Given the description of an element on the screen output the (x, y) to click on. 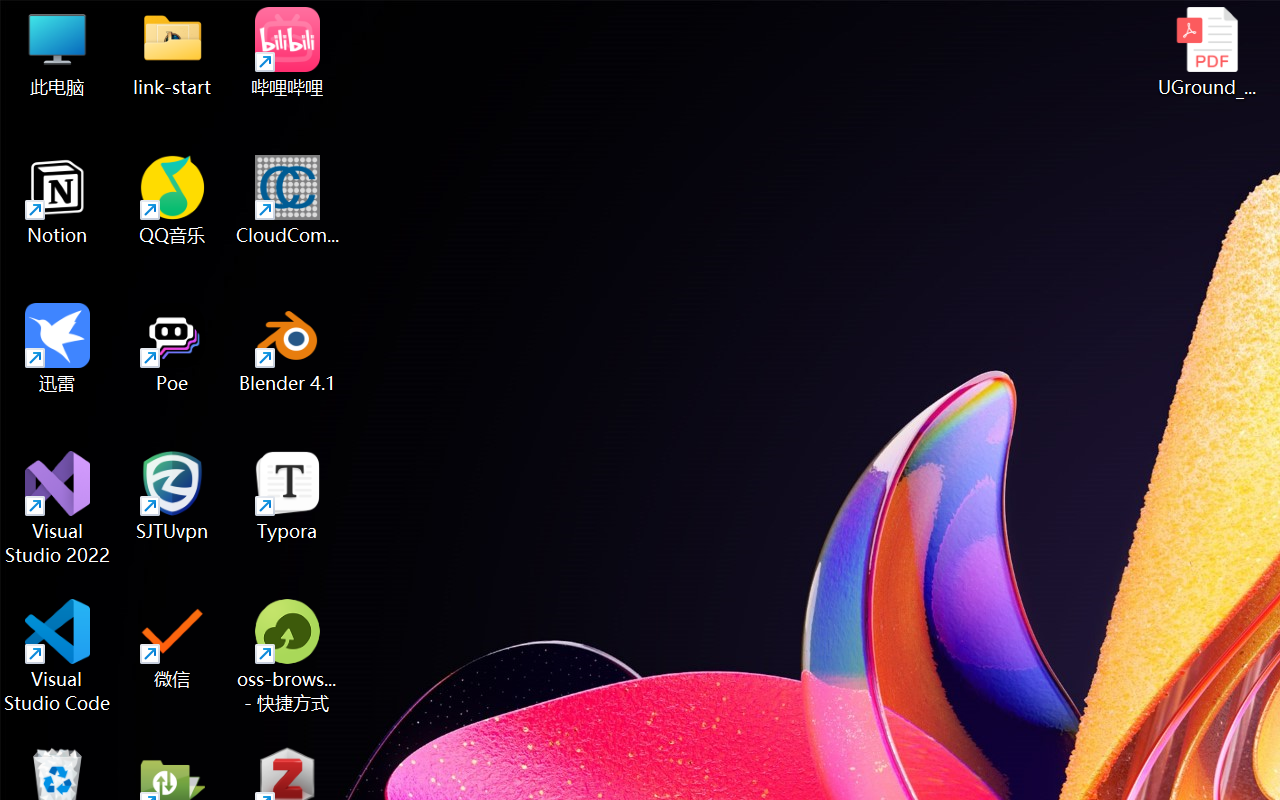
SJTUvpn (172, 496)
Blender 4.1 (287, 348)
Typora (287, 496)
CloudCompare (287, 200)
Visual Studio 2022 (57, 508)
UGround_paper.pdf (1206, 52)
Visual Studio Code (57, 656)
